Given the description of an element on the screen output the (x, y) to click on. 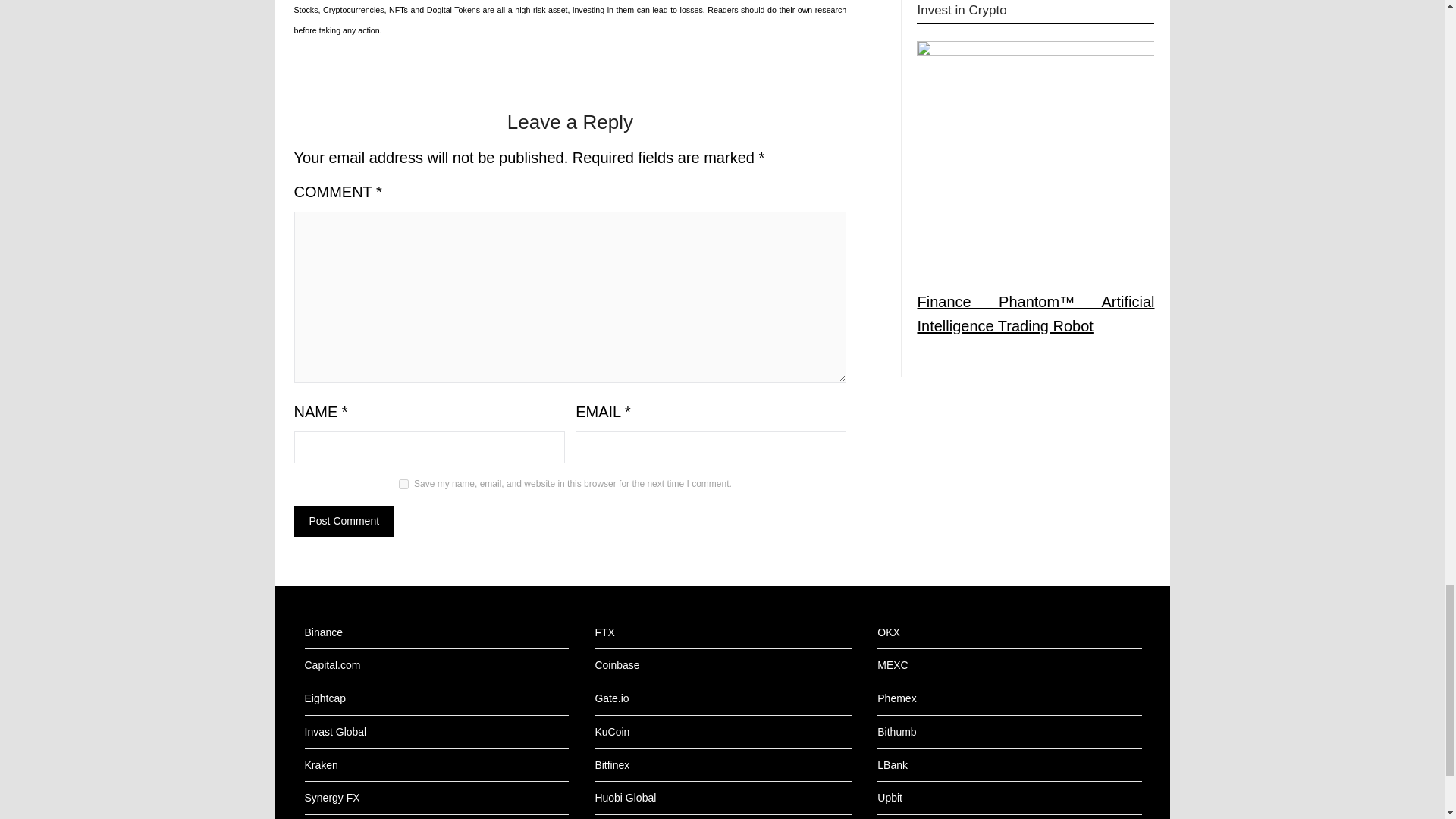
yes (403, 483)
Post Comment (344, 521)
Post Comment (344, 521)
